Given the description of an element on the screen output the (x, y) to click on. 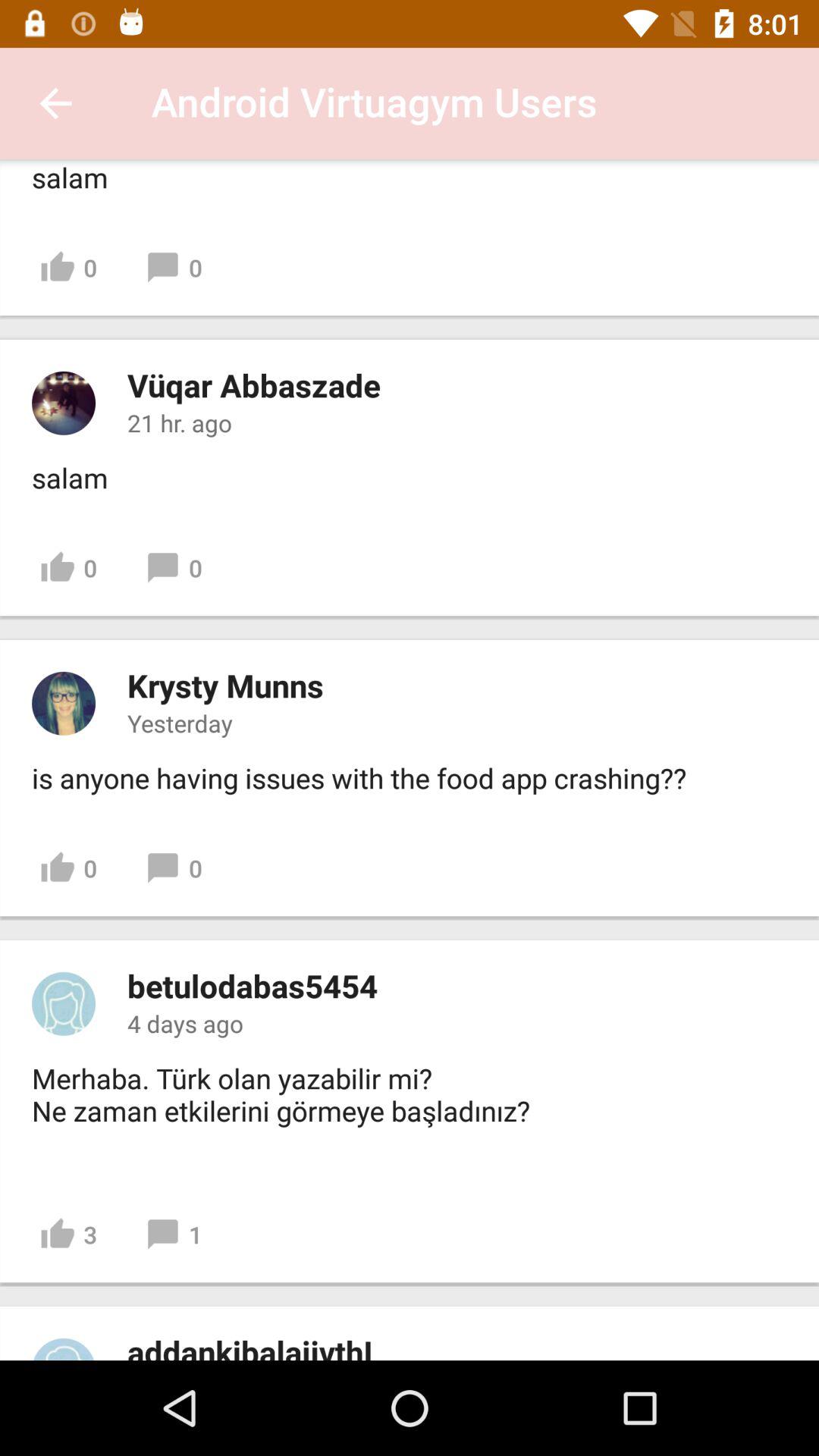
open the 1 (173, 1234)
